Given the description of an element on the screen output the (x, y) to click on. 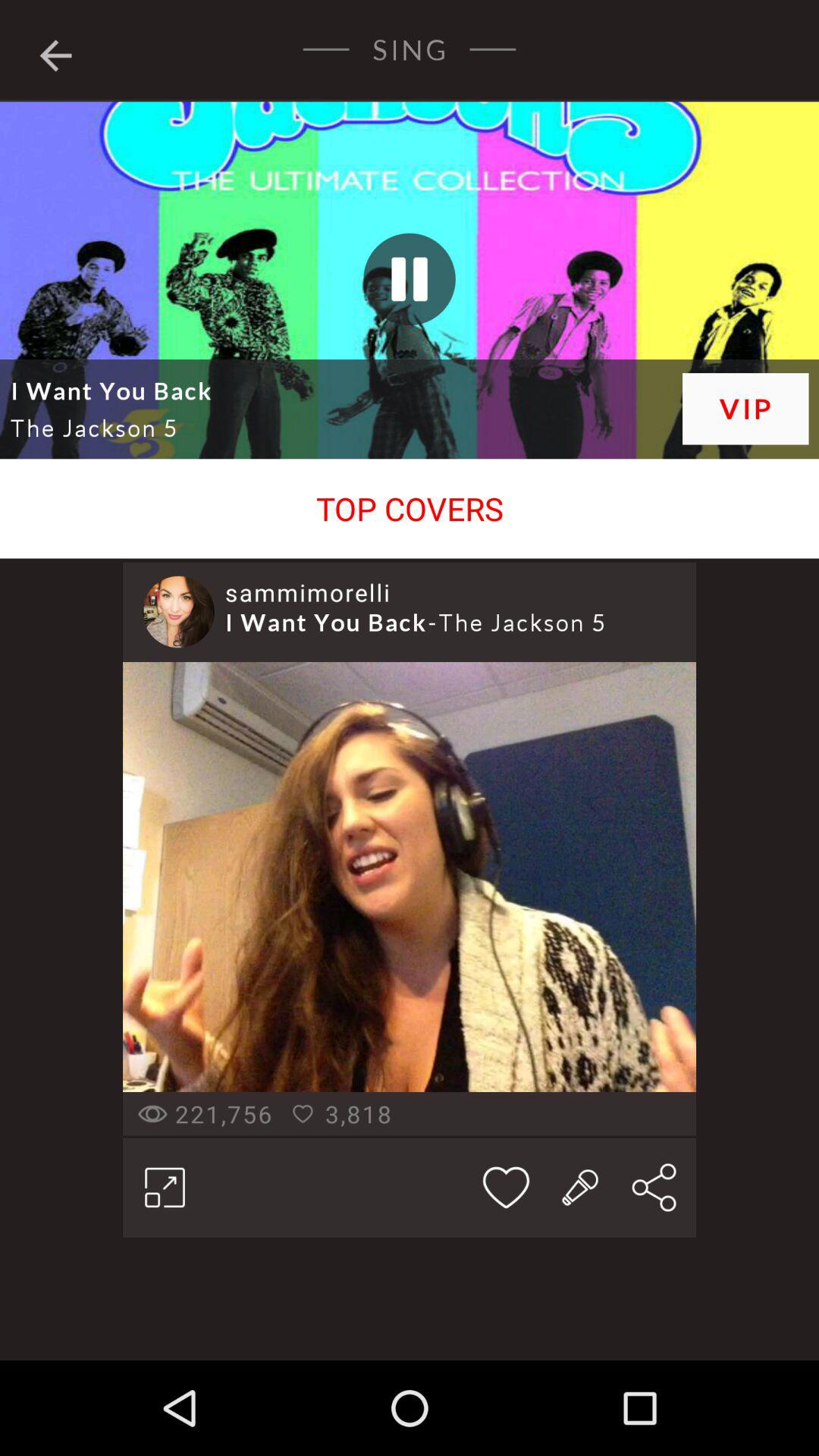
press the item above top covers icon (409, 229)
